Given the description of an element on the screen output the (x, y) to click on. 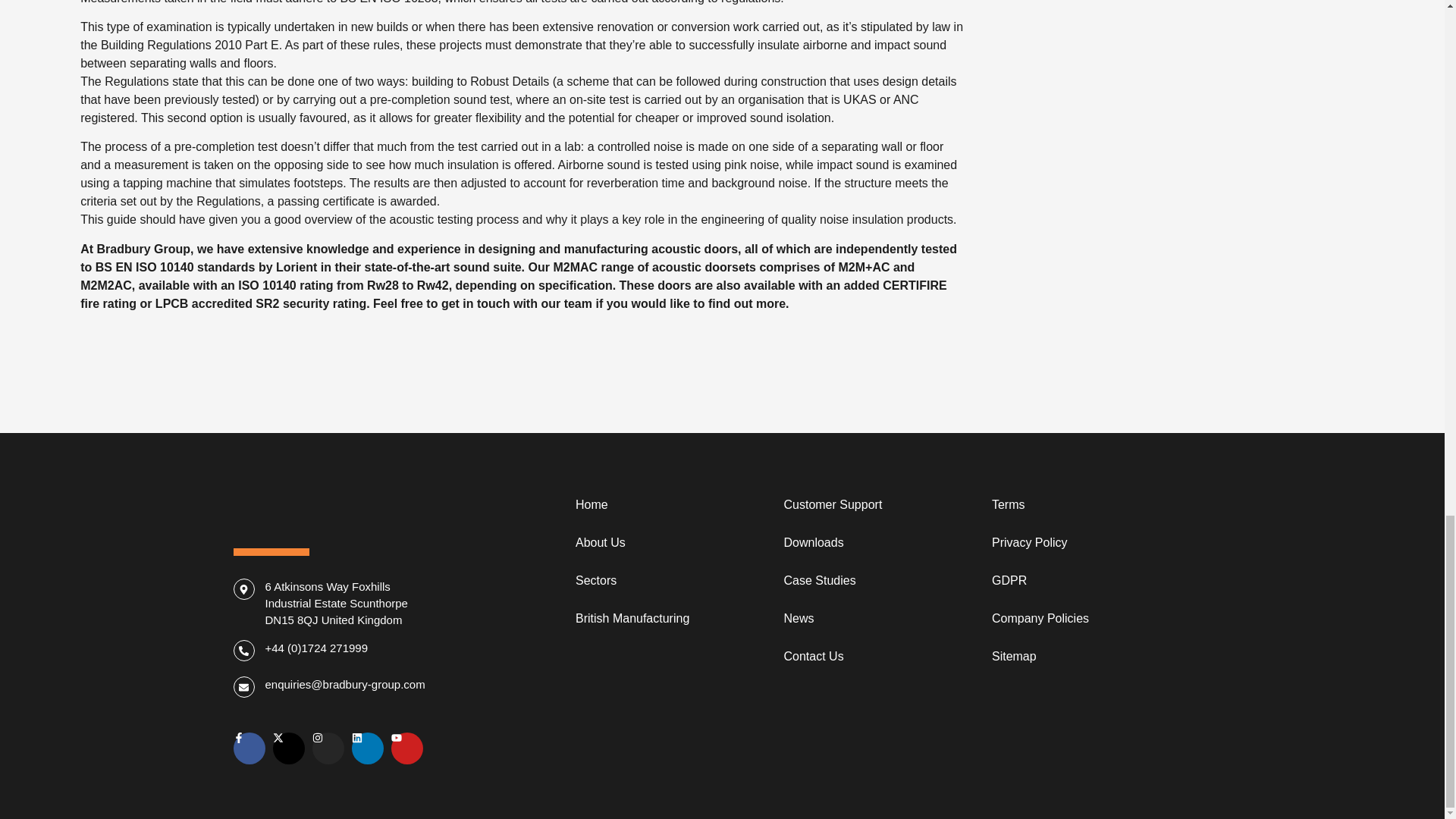
Bradbury-Group-Logo-White-1.png (346, 505)
